Given the description of an element on the screen output the (x, y) to click on. 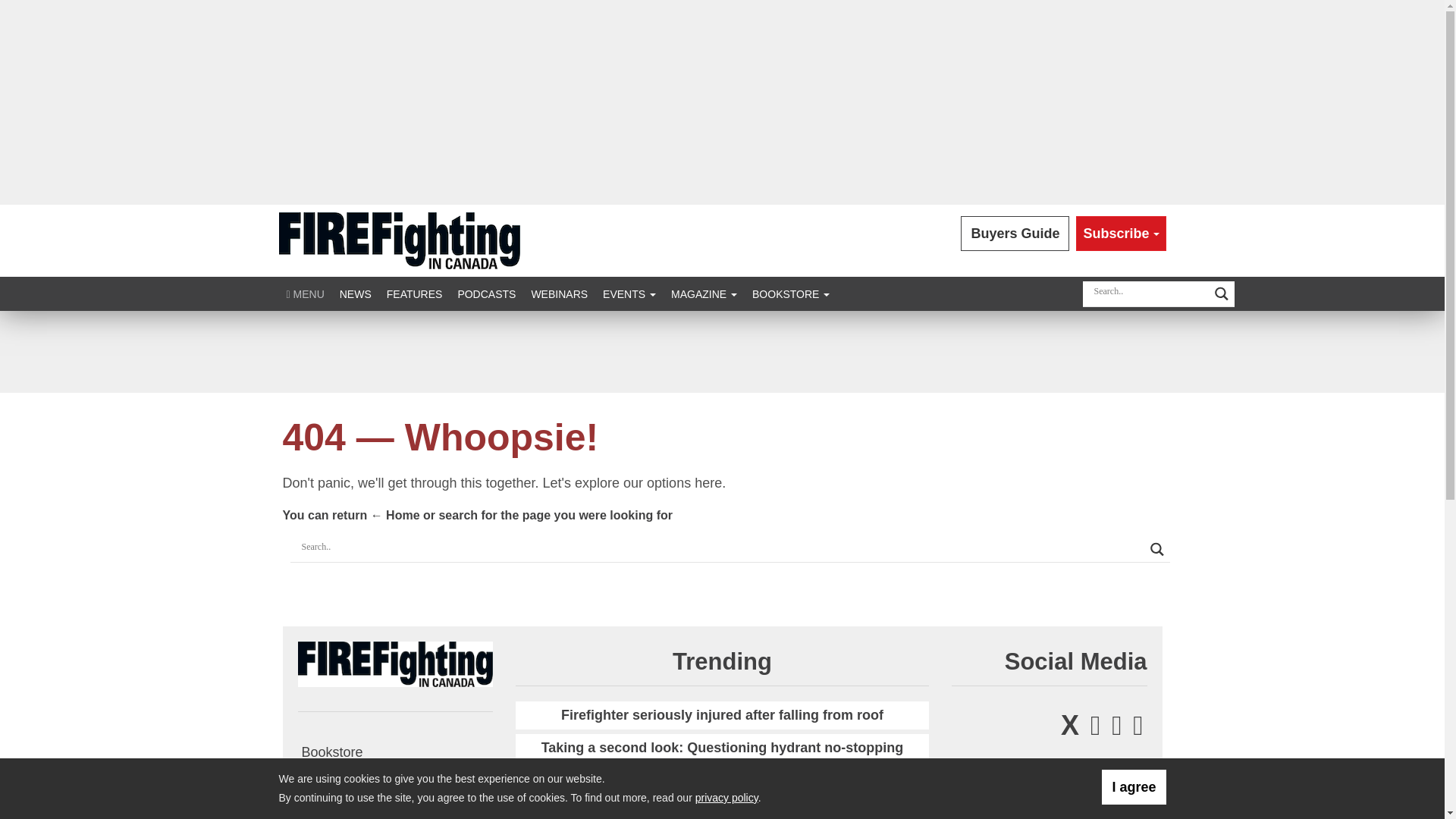
BOOKSTORE (790, 293)
Subscribe (1120, 233)
Buyers Guide (1014, 233)
Fire Fighting in Canada (399, 239)
WEBINARS (558, 293)
3rd party ad content (721, 351)
Fire Fighting in Canada (395, 663)
EVENTS (629, 293)
MENU (305, 293)
MAGAZINE (703, 293)
Home (395, 514)
PODCASTS (485, 293)
Buyers Guide (1014, 233)
Click to show site navigation (305, 293)
